Given the description of an element on the screen output the (x, y) to click on. 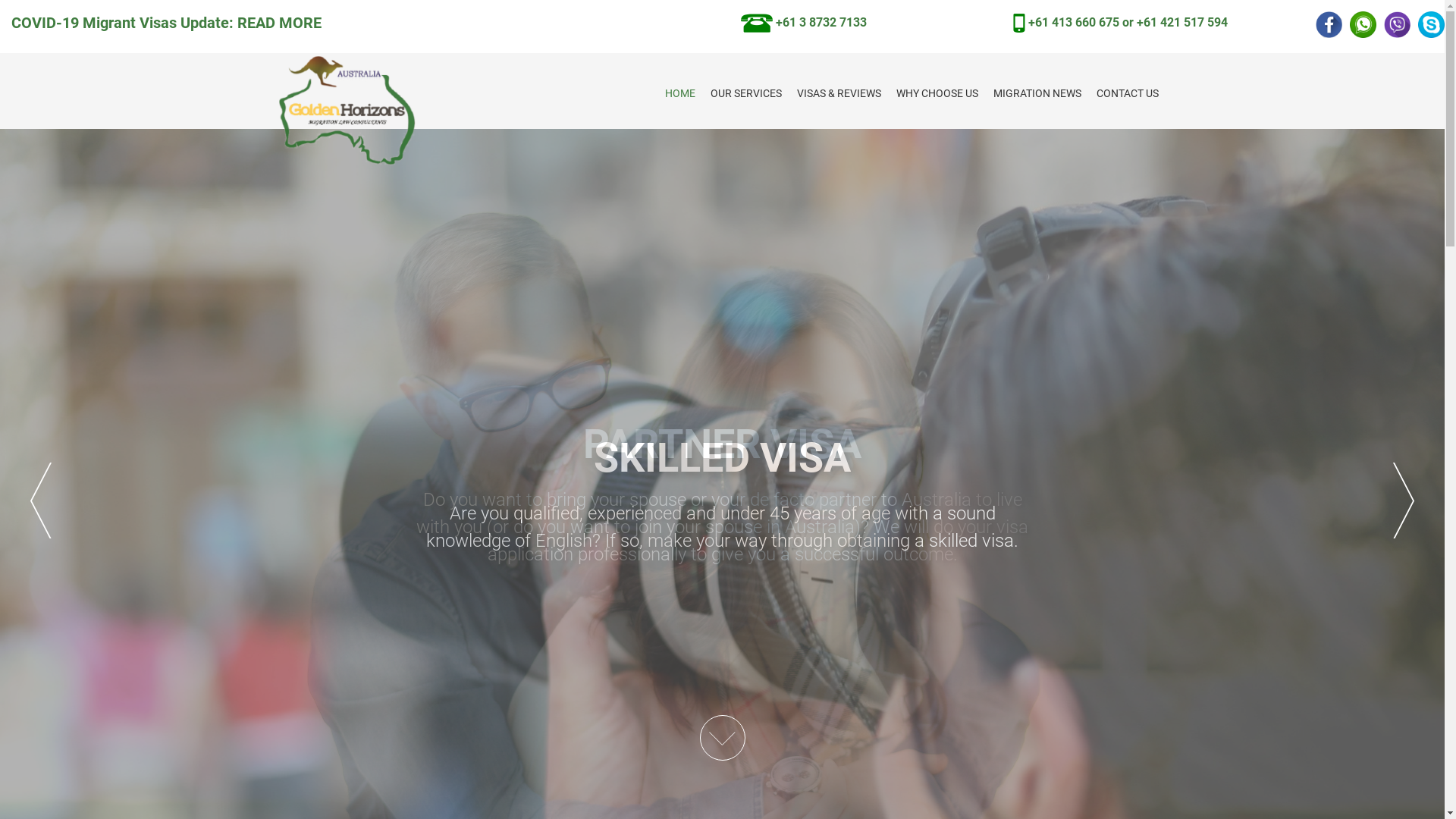
MIGRATION NEWS Element type: text (1036, 93)
VISAS & REVIEWS Element type: text (838, 93)
+61 413 660 675 Element type: text (1073, 22)
READ MORE Element type: text (279, 22)
+61 3 8732 7133 Element type: text (803, 22)
HOME Element type: text (679, 93)
+61 421 517 594 Element type: text (1181, 22)
Next Element type: text (1403, 500)
CONTACT US Element type: text (1127, 93)
OUR SERVICES Element type: text (745, 93)
WHY CHOOSE US Element type: text (936, 93)
Prev Element type: text (40, 500)
